Given the description of an element on the screen output the (x, y) to click on. 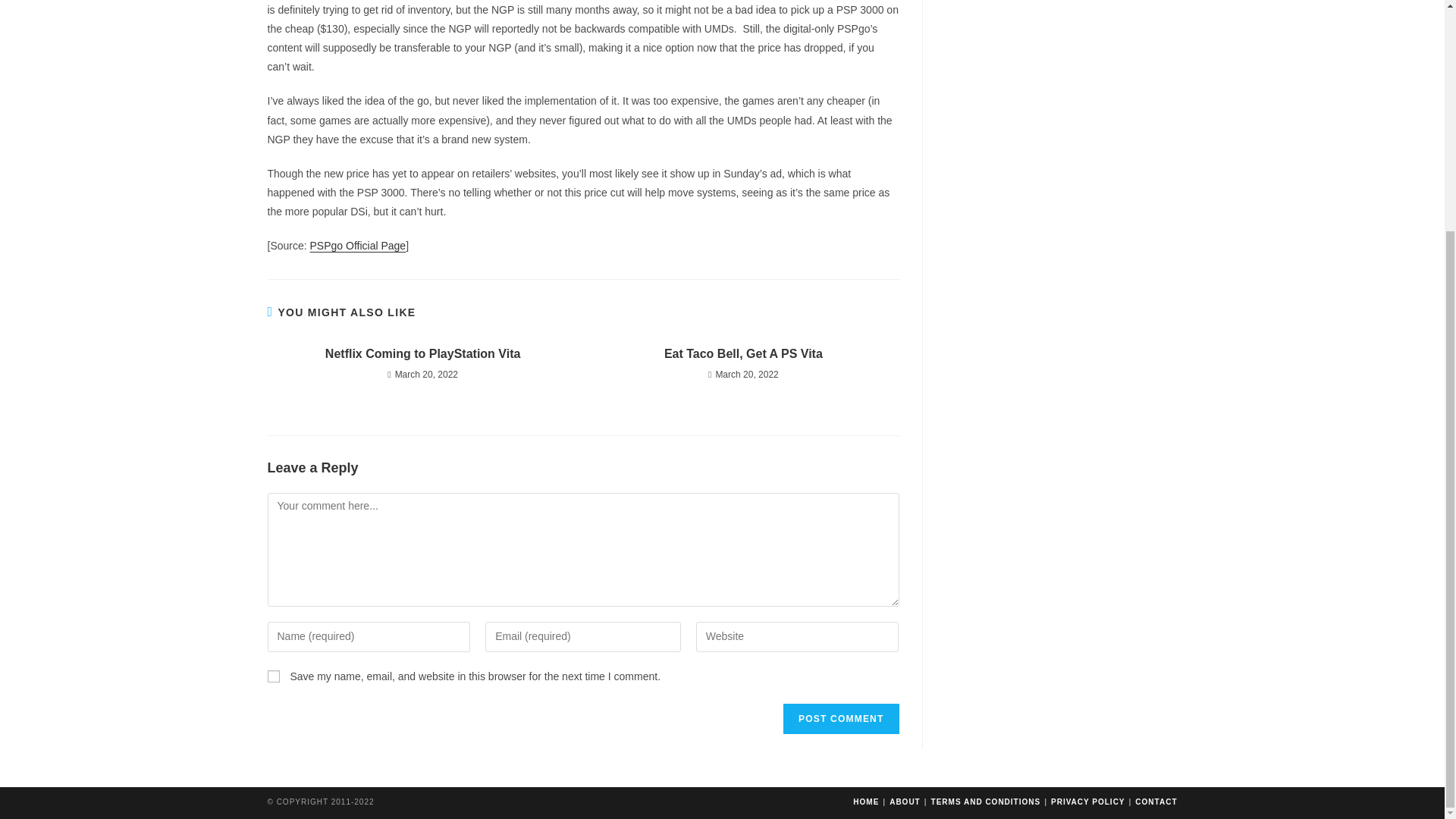
CONTACT (1155, 801)
yes (272, 676)
ABOUT (904, 801)
Eat Taco Bell, Get A PS Vita (742, 353)
Netflix Coming to PlayStation Vita (422, 353)
TERMS AND CONDITIONS (986, 801)
PSPgo Official Page (358, 245)
PRIVACY POLICY (1088, 801)
Post Comment (840, 718)
HOME (866, 801)
Post Comment (840, 718)
